Given the description of an element on the screen output the (x, y) to click on. 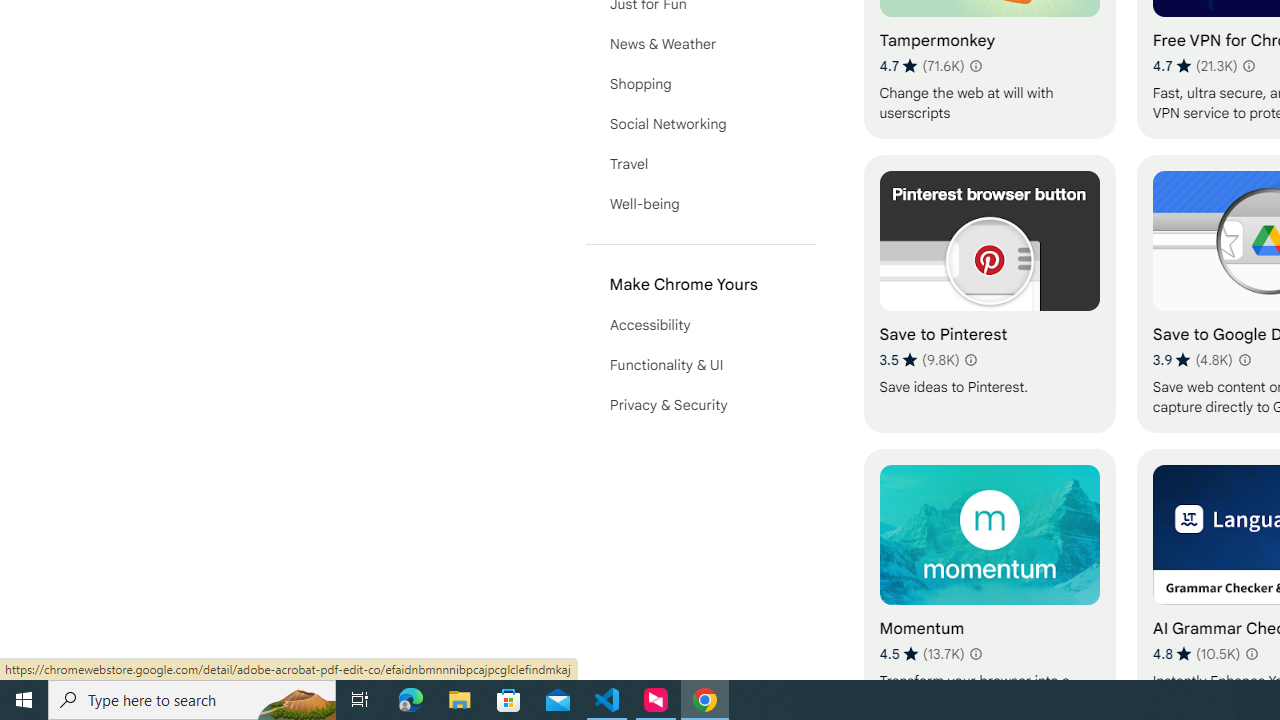
Average rating 4.8 out of 5 stars. 10.5K ratings. (1196, 653)
News & Weather (700, 43)
Well-being (700, 203)
Travel (700, 164)
Learn more about results and reviews "Save to Google Drive" (1243, 359)
Average rating 4.5 out of 5 stars. 13.7K ratings. (922, 653)
Average rating 4.7 out of 5 stars. 21.3K ratings. (1194, 66)
Shopping (700, 83)
Social Networking (700, 123)
Privacy & Security (700, 404)
Learn more about results and reviews "Save to Pinterest" (970, 359)
Functionality & UI (700, 364)
Learn more about results and reviews "Tampermonkey" (975, 65)
Average rating 4.7 out of 5 stars. 71.6K ratings. (922, 66)
